Given the description of an element on the screen output the (x, y) to click on. 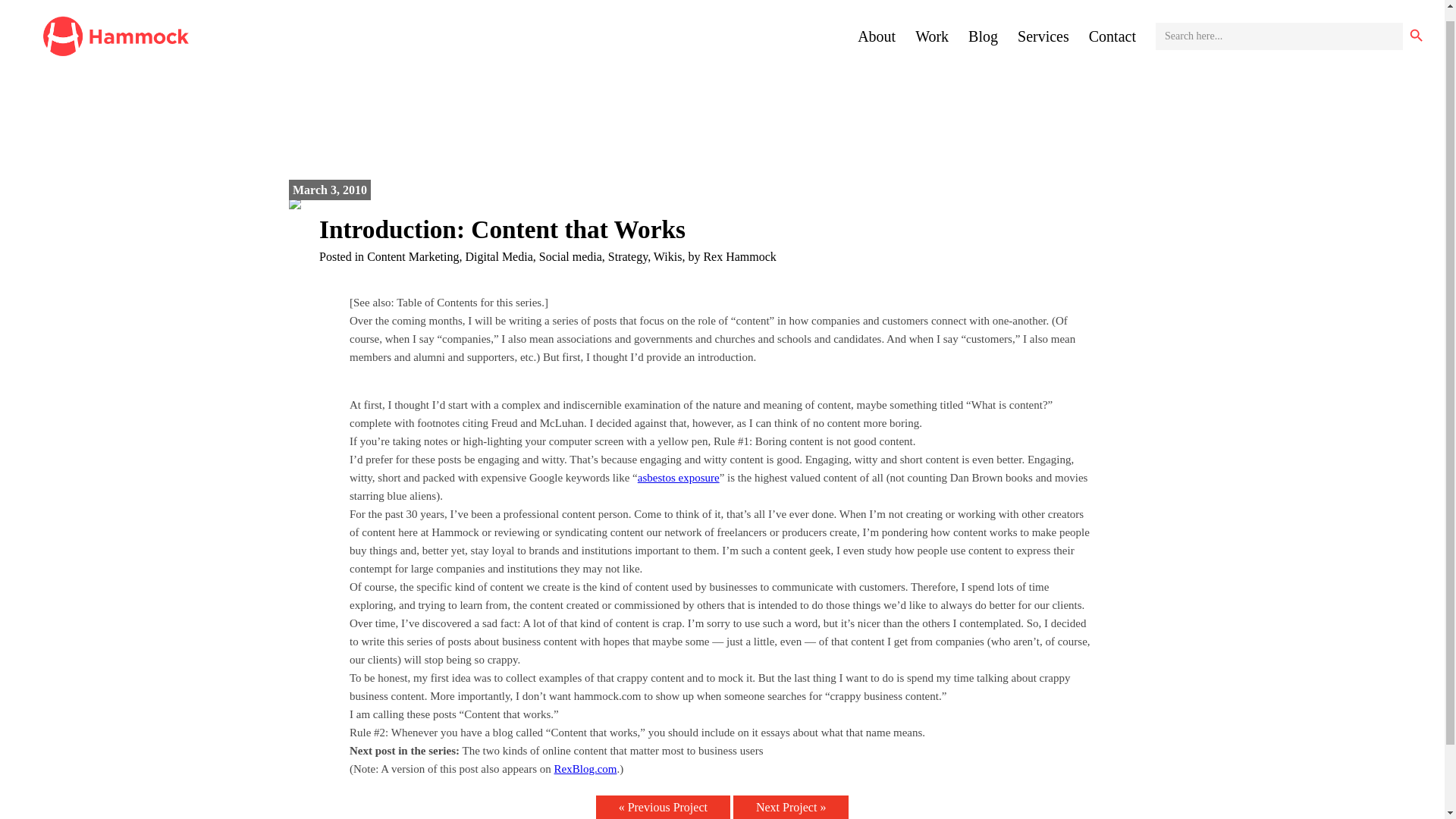
Content Marketing (412, 256)
Digital Media (498, 256)
Work (932, 24)
Contact (1112, 24)
Strategy (627, 256)
Social media (570, 256)
asbestos exposure (678, 477)
Search Button (1416, 24)
RexBlog.com (585, 768)
Services (1042, 24)
